Given the description of an element on the screen output the (x, y) to click on. 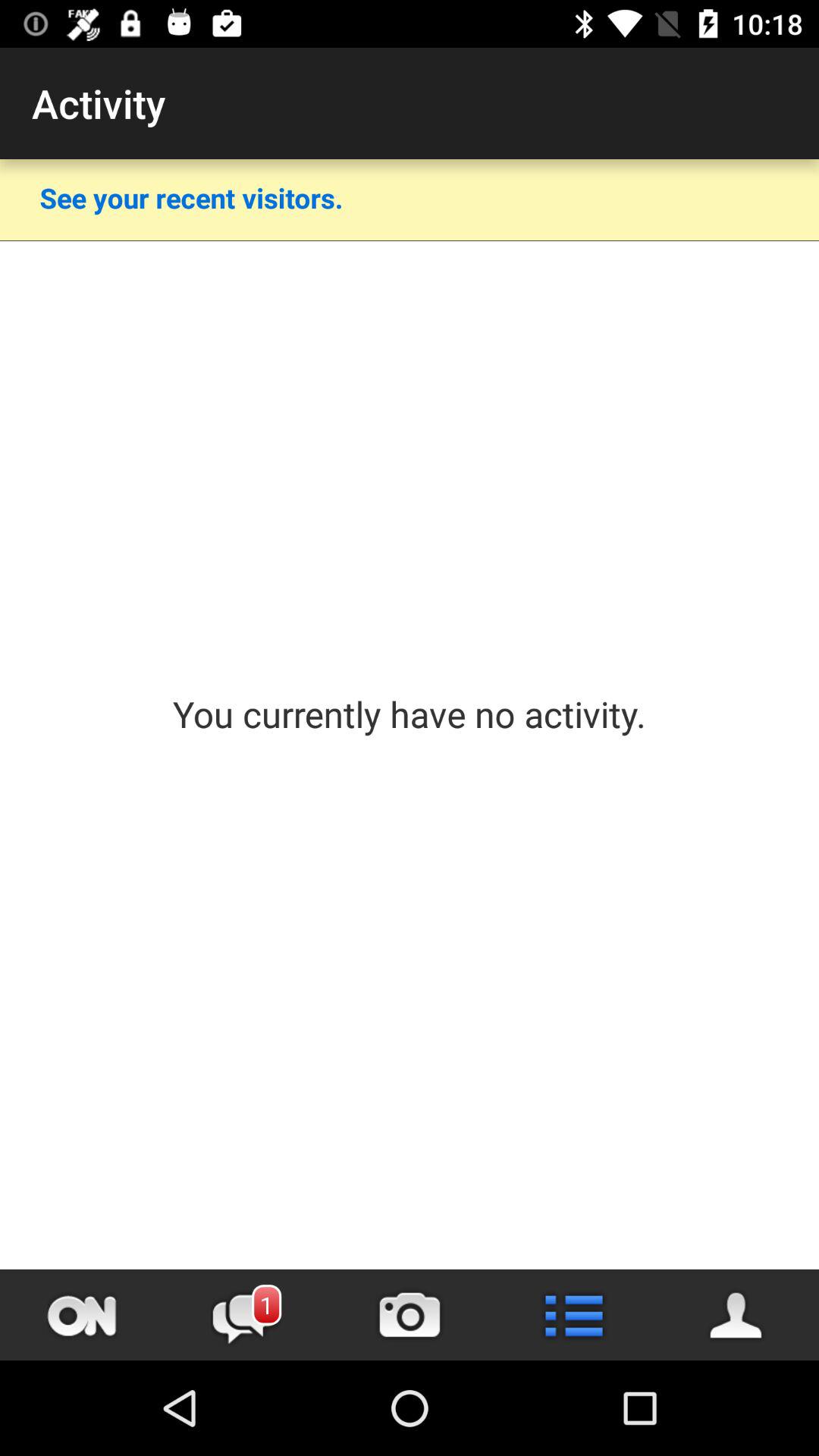
message tab (245, 1315)
